Given the description of an element on the screen output the (x, y) to click on. 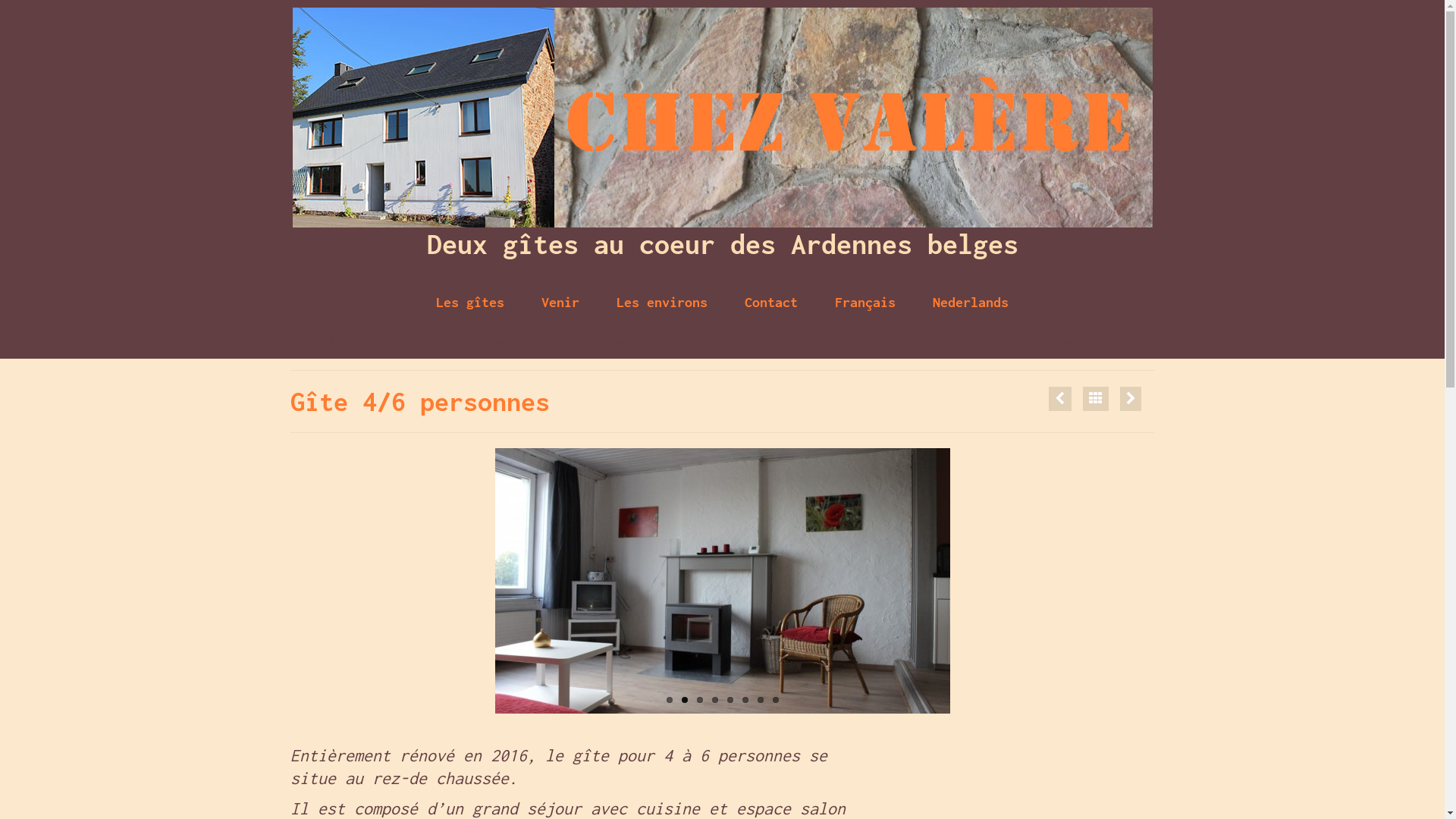
Venir Element type: text (560, 302)
Les environs Element type: text (661, 302)
Nederlands Element type: text (1074, 342)
8 Element type: text (774, 699)
De Gites Element type: hover (1129, 398)
7 Element type: text (759, 699)
2 Element type: text (683, 699)
Les environs Element type: text (646, 342)
Contact Element type: text (770, 302)
3 Element type: text (699, 699)
4 Element type: text (714, 699)
Nederlands Element type: text (970, 302)
Les environs Element type: hover (1059, 398)
6 Element type: text (744, 699)
1 Element type: text (668, 699)
5 Element type: text (729, 699)
Venir Element type: text (504, 342)
Contact Element type: text (789, 342)
